Given the description of an element on the screen output the (x, y) to click on. 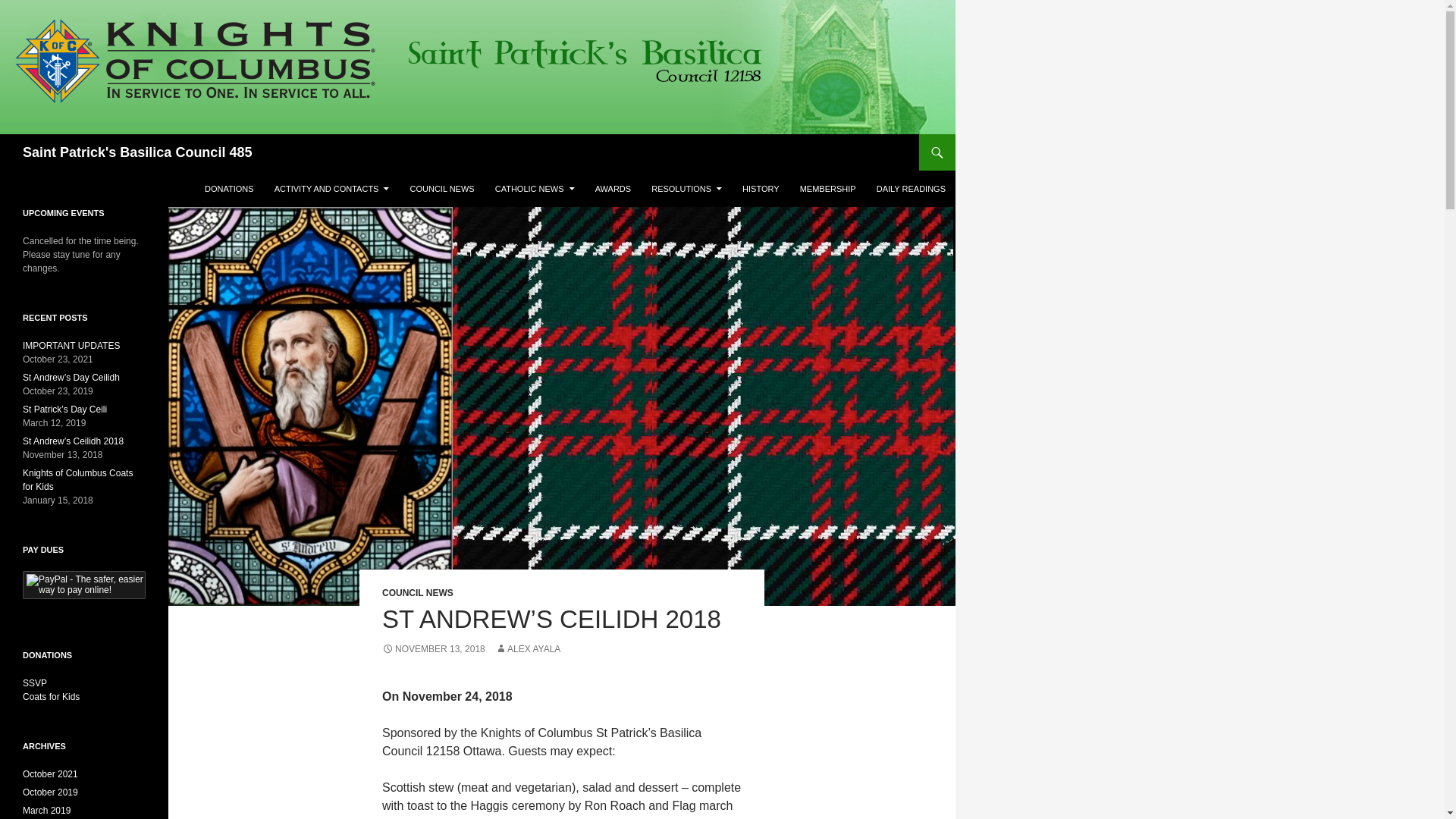
COUNCIL NEWS (416, 593)
March 2019 (46, 810)
HISTORY (761, 188)
DAILY READINGS (911, 188)
MEMBERSHIP (827, 188)
ACTIVITY AND CONTACTS (331, 188)
IMPORTANT UPDATES (71, 345)
ALEX AYALA (527, 648)
RESOLUTIONS (686, 188)
Coats for Kids (51, 696)
October 2019 (50, 792)
October 2021 (50, 774)
Knights of Columbus Coats for Kids (77, 479)
AWARDS (613, 188)
SSVP (34, 683)
